Given the description of an element on the screen output the (x, y) to click on. 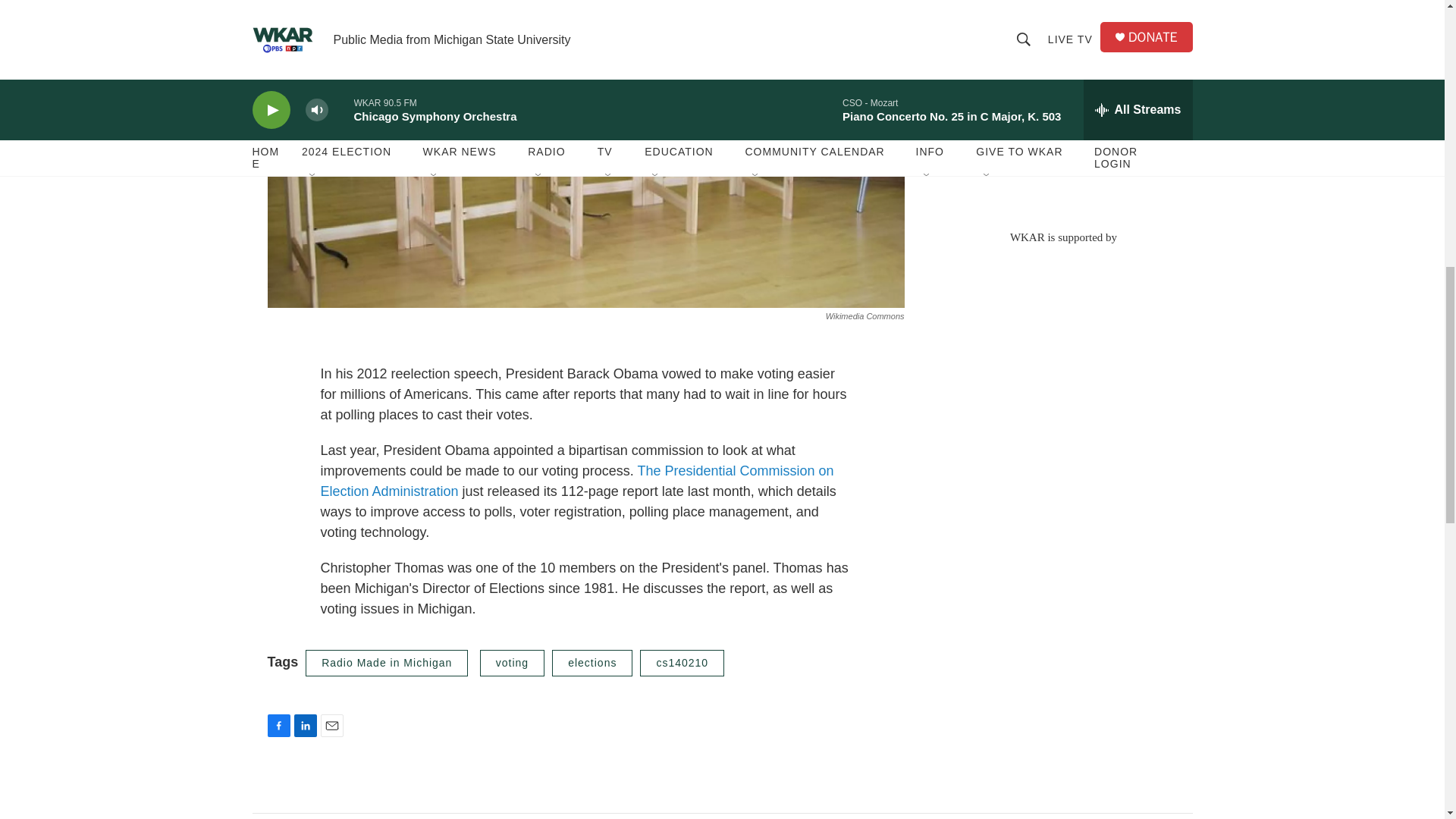
3rd party ad content (1062, 353)
3rd party ad content (1062, 105)
